Given the description of an element on the screen output the (x, y) to click on. 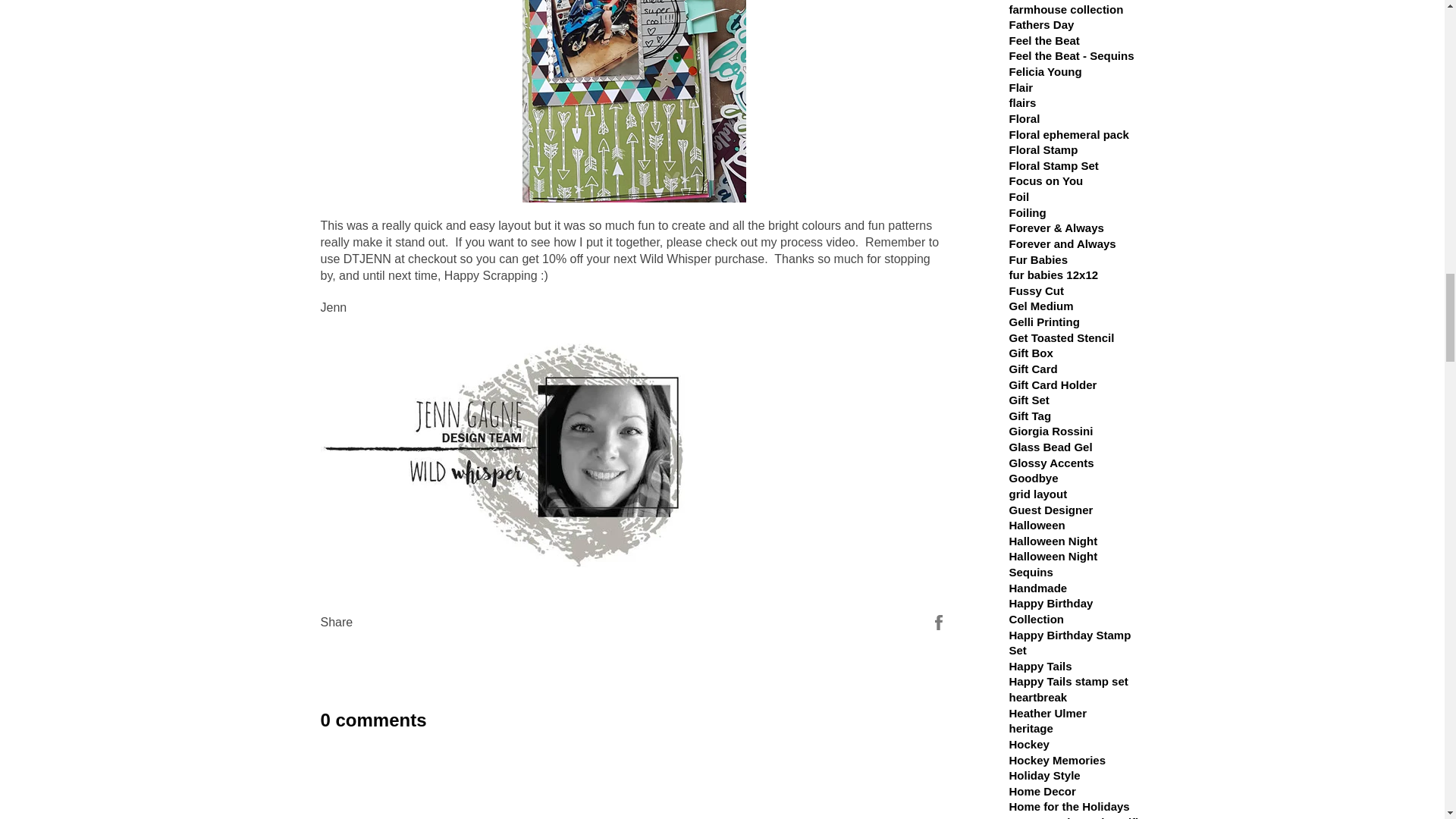
Share on Facebook (938, 621)
